Given the description of an element on the screen output the (x, y) to click on. 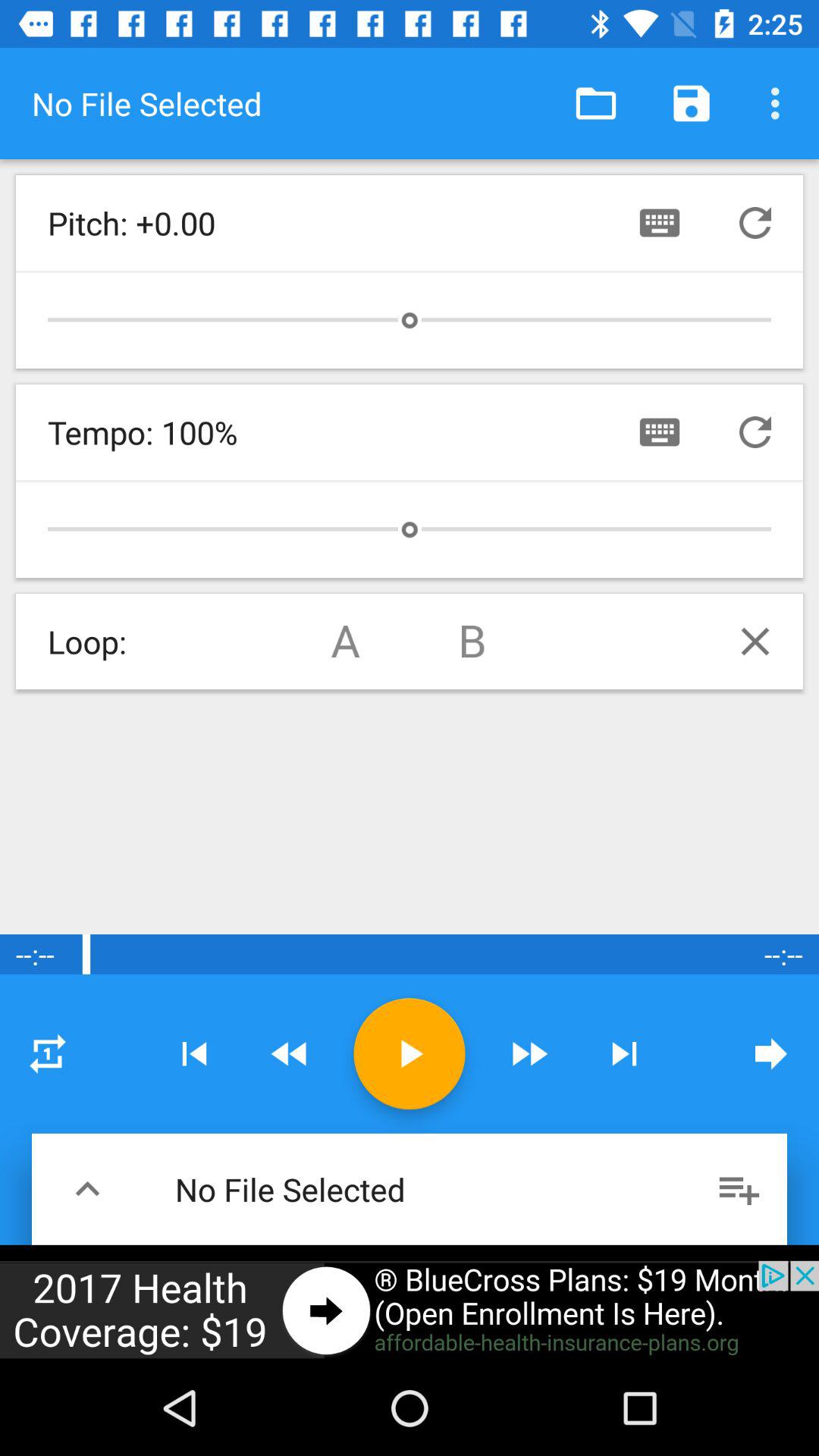
select loop a (345, 641)
